Given the description of an element on the screen output the (x, y) to click on. 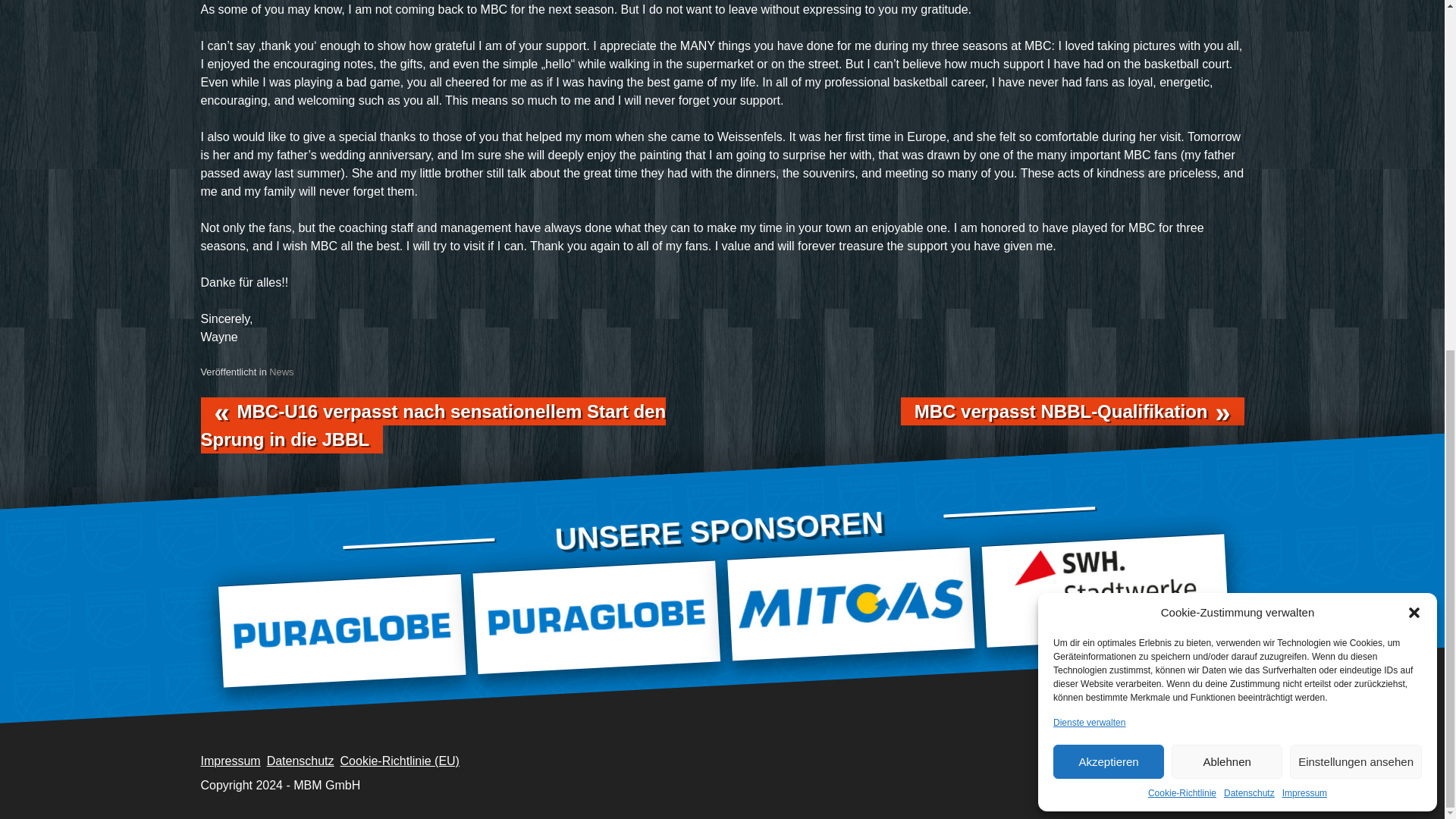
Einstellungen ansehen (1356, 154)
Ablehnen (1227, 154)
Cookie-Richtlinie (1181, 185)
Dienste verwalten (1088, 115)
Akzeptieren (1107, 154)
Impressum (1304, 185)
Datenschutz (1249, 185)
